Given the description of an element on the screen output the (x, y) to click on. 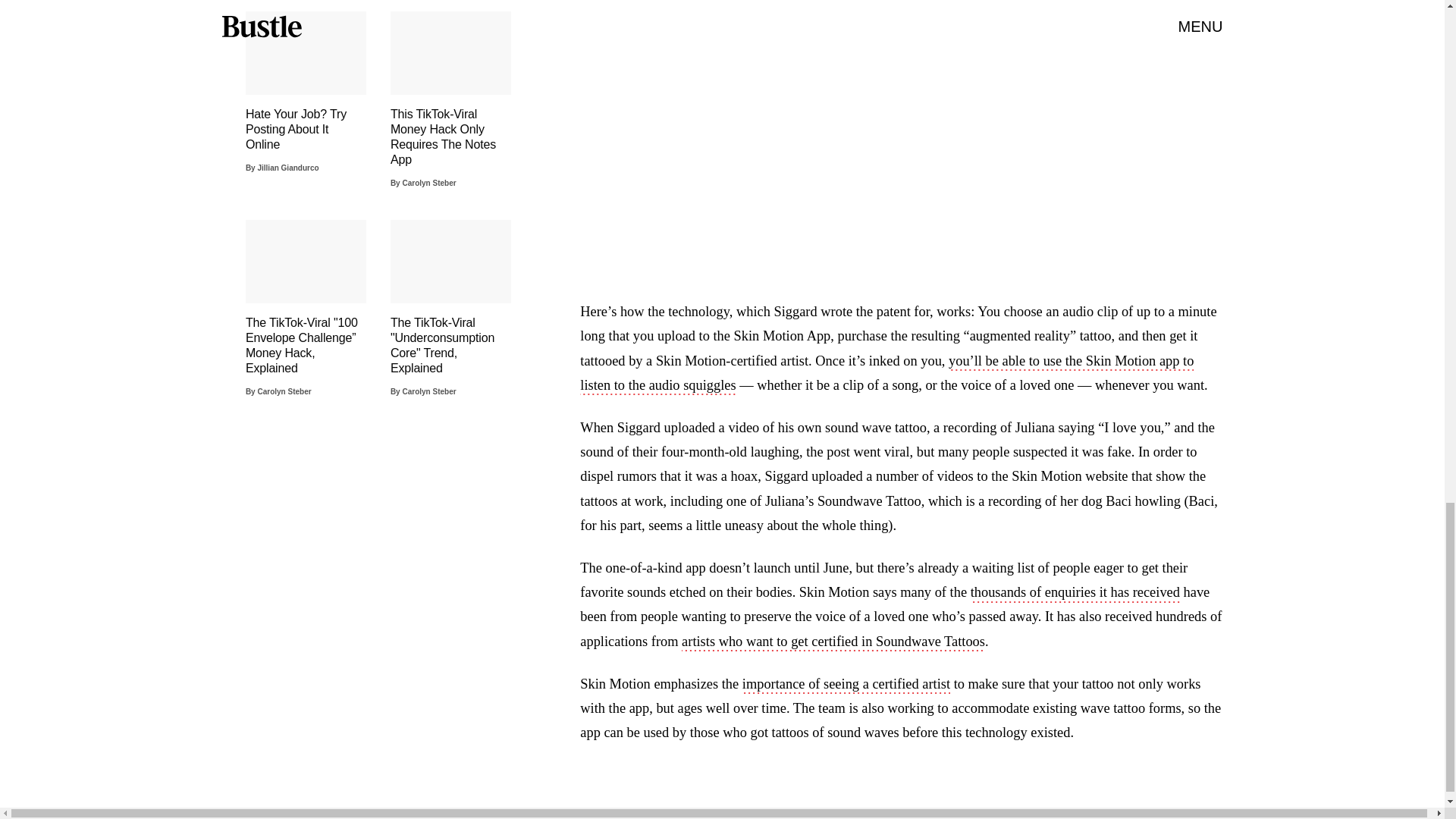
thousands of enquiries it has received (1075, 593)
artists who want to get certified in Soundwave Tattoos (833, 642)
importance of seeing a certified artist (846, 685)
